Given the description of an element on the screen output the (x, y) to click on. 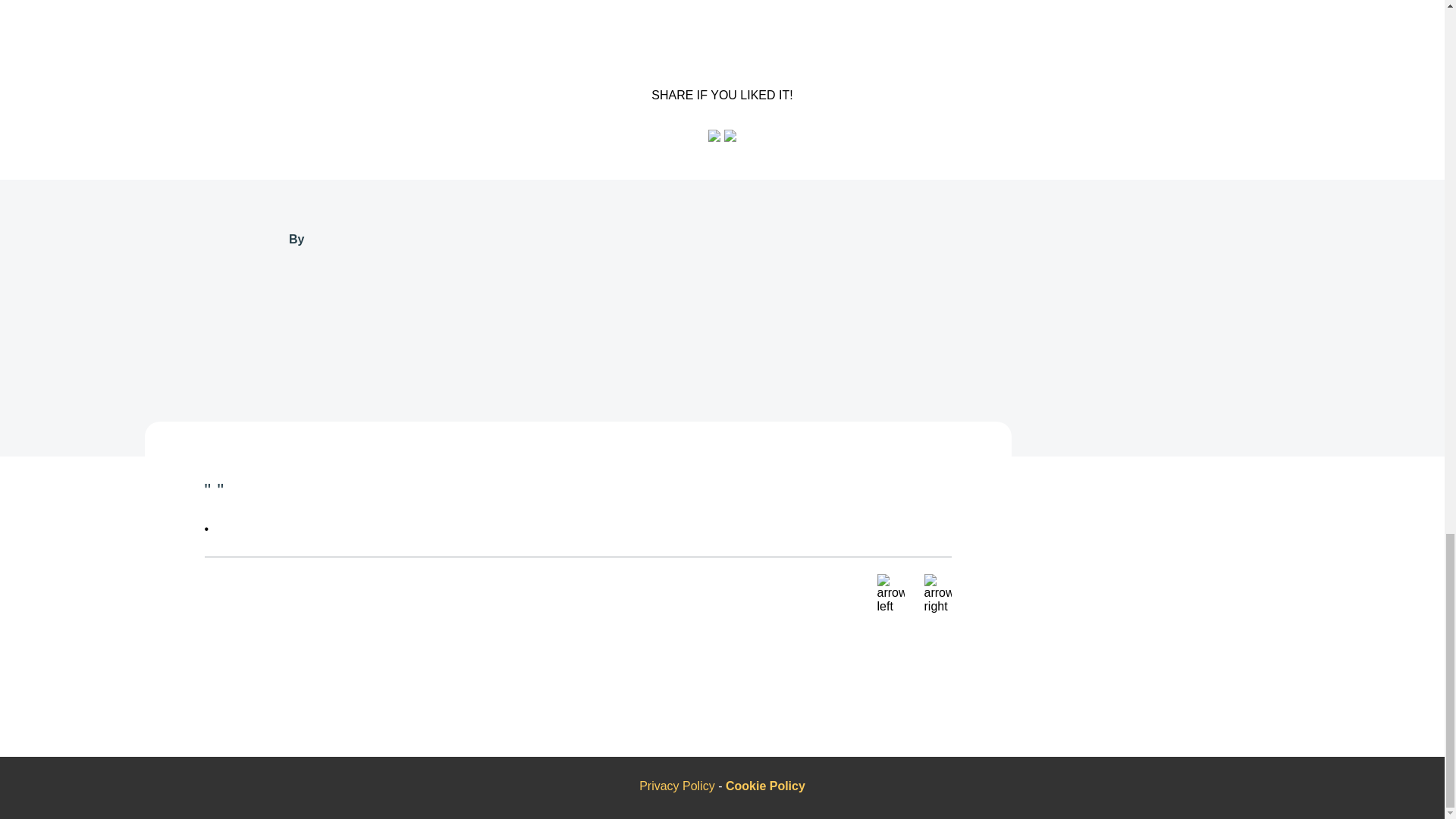
Privacy Policy (678, 785)
